Given the description of an element on the screen output the (x, y) to click on. 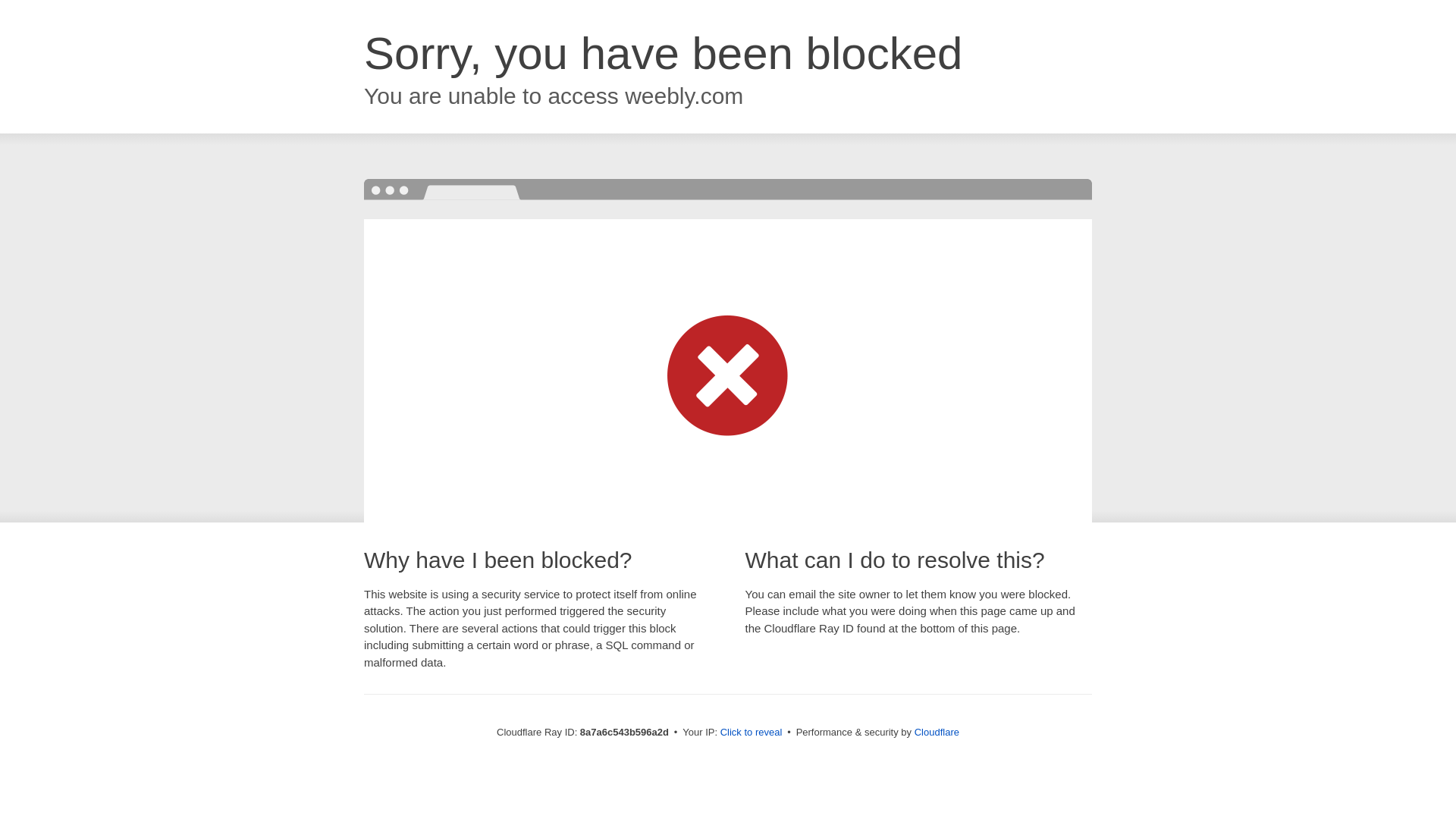
Cloudflare (936, 731)
Click to reveal (751, 732)
